Given the description of an element on the screen output the (x, y) to click on. 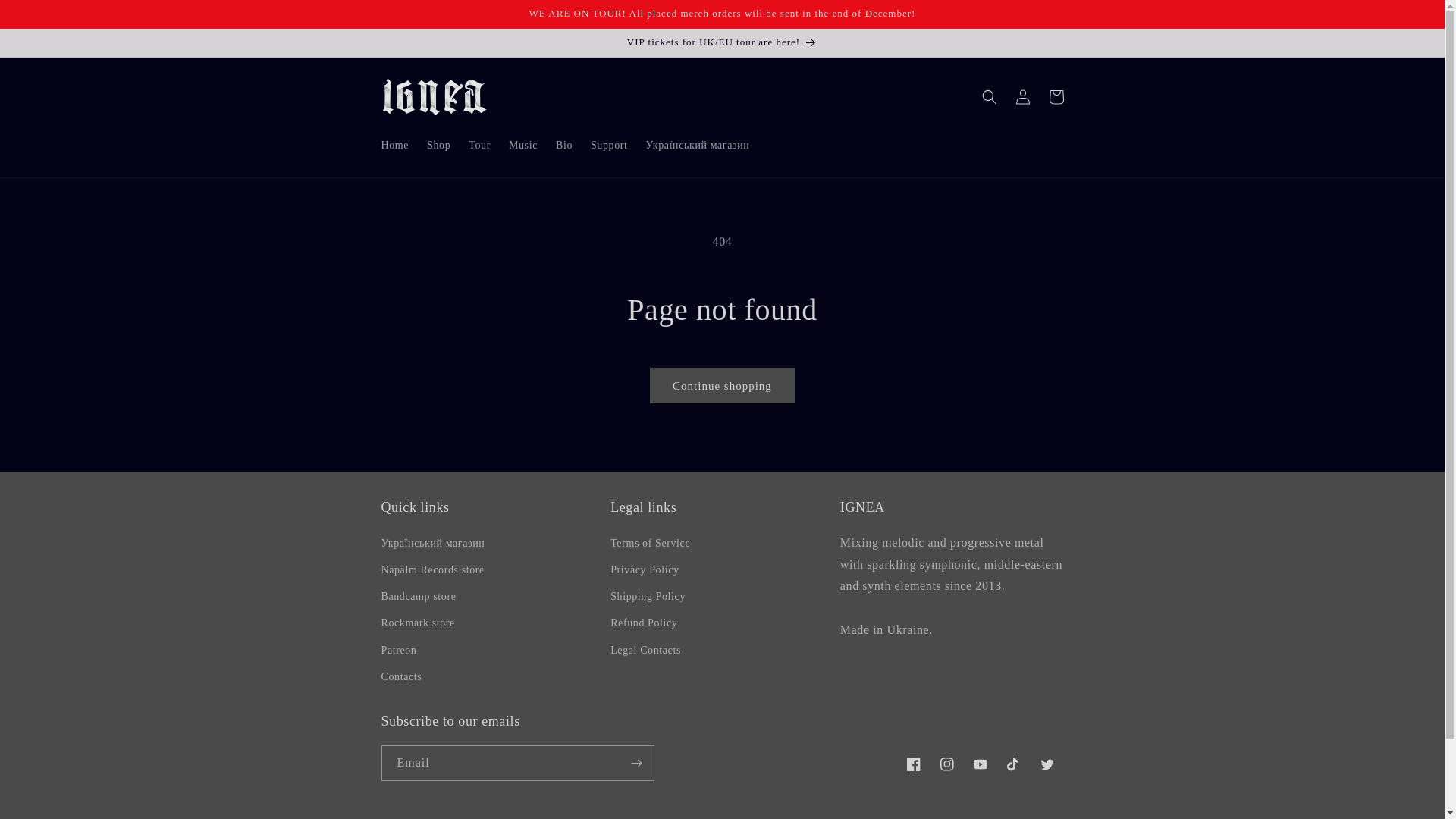
Bandcamp store Element type: text (417, 596)
Music Element type: text (522, 145)
Home Element type: text (394, 145)
TikTok Element type: text (1012, 764)
VIP tickets for UK/EU tour are here! Element type: text (722, 42)
Bio Element type: text (563, 145)
Shipping Policy Element type: text (647, 596)
Support Element type: text (609, 145)
Facebook Element type: text (912, 764)
Cart Element type: text (1055, 96)
YouTube Element type: text (979, 764)
Log in Element type: text (1021, 96)
Contacts Element type: text (400, 676)
Rockmark store Element type: text (417, 622)
Instagram Element type: text (946, 764)
Patreon Element type: text (398, 650)
Shop Element type: text (438, 145)
Privacy Policy Element type: text (644, 569)
Twitter Element type: text (1046, 764)
Continue shopping Element type: text (721, 385)
Legal Contacts Element type: text (645, 650)
Napalm Records store Element type: text (431, 569)
Tour Element type: text (479, 145)
Terms of Service Element type: text (650, 544)
Refund Policy Element type: text (643, 622)
